Given the description of an element on the screen output the (x, y) to click on. 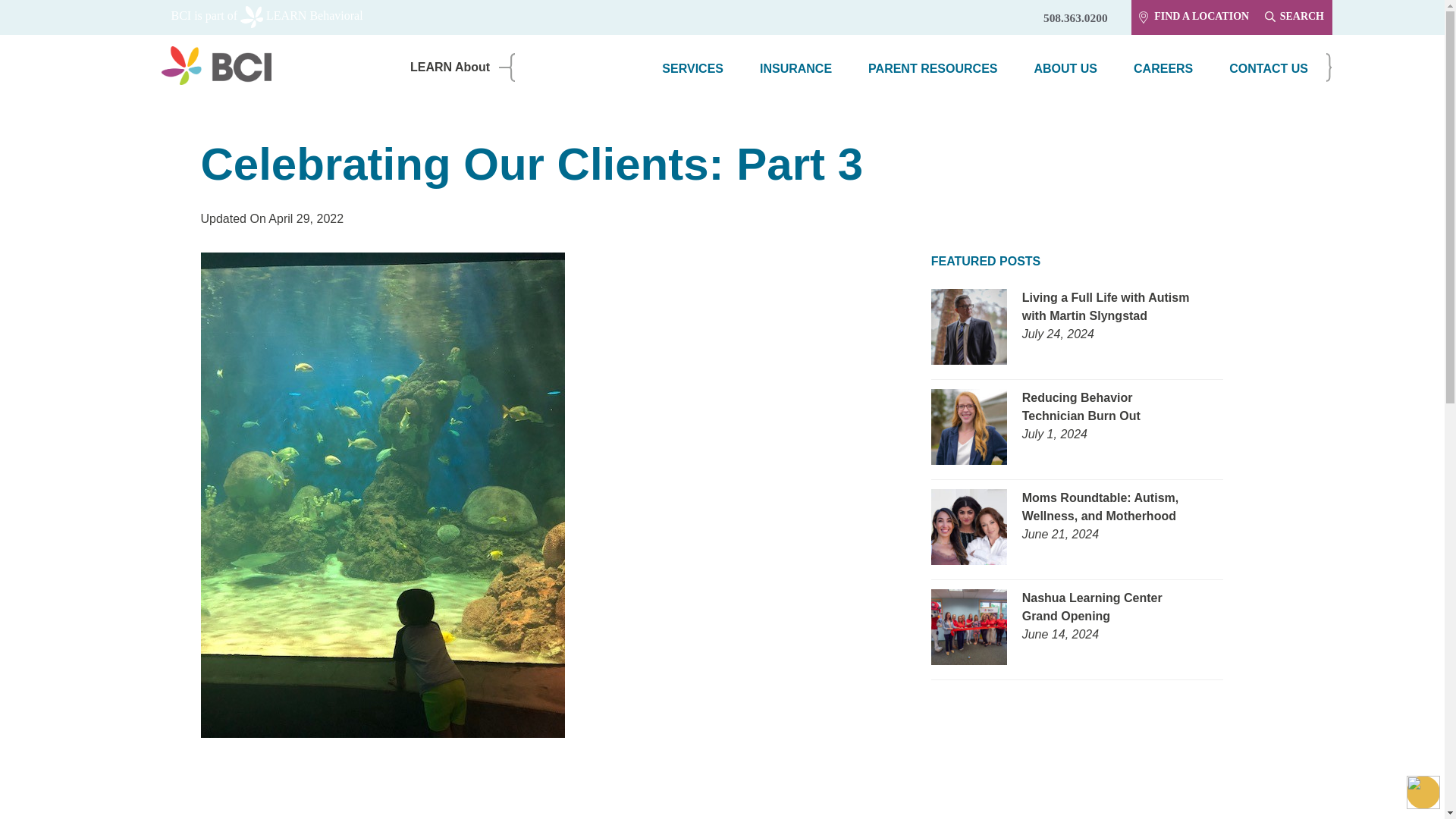
SERVICES (692, 69)
Accessibility Menu (1422, 792)
SEARCH (1294, 17)
YouTube player (560, 793)
508.363.0200 (1074, 13)
FIND A LOCATION (1193, 17)
